Given the description of an element on the screen output the (x, y) to click on. 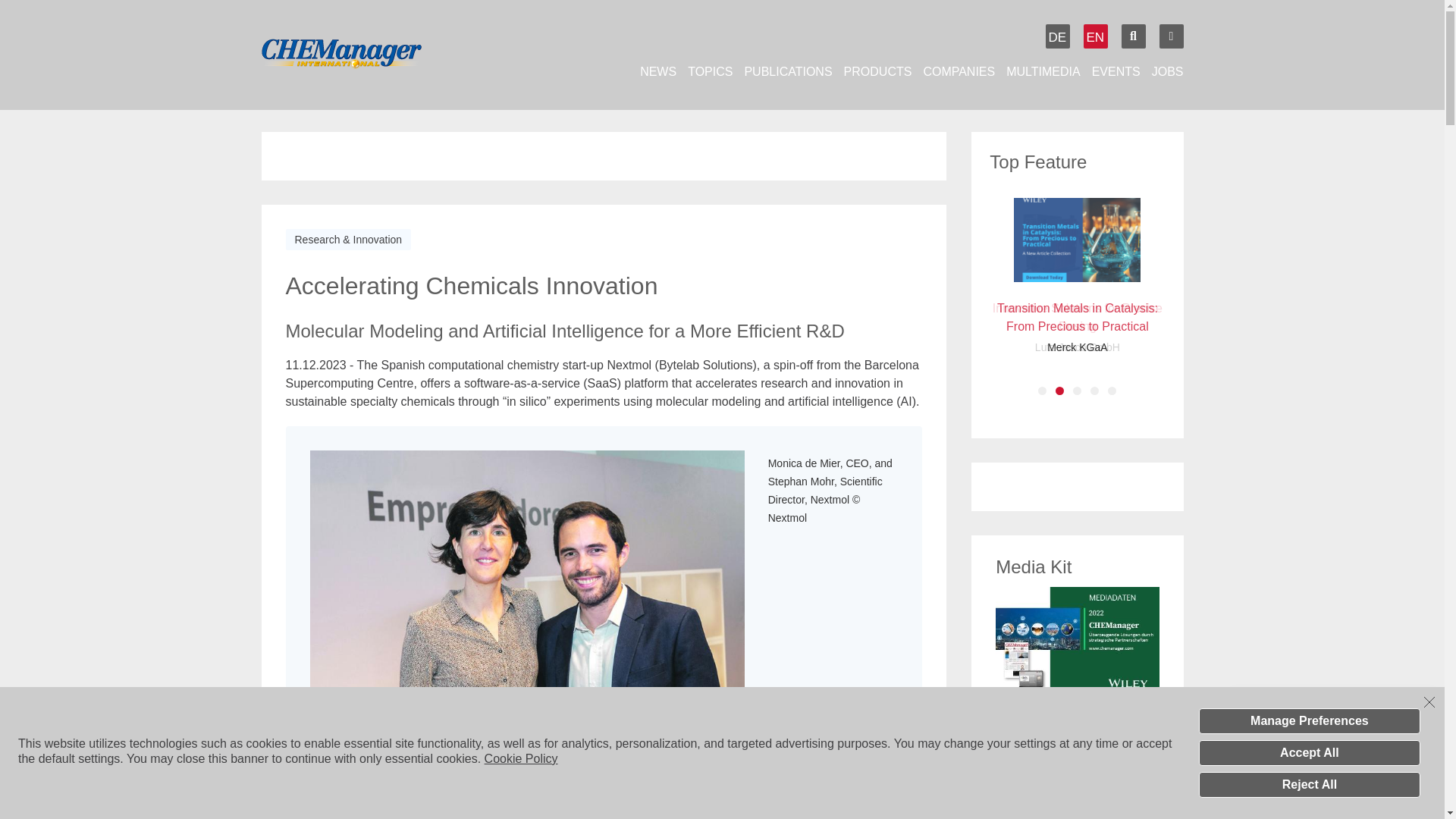
NEWS (658, 71)
Home (366, 55)
PRODUCTS (878, 71)
TOPICS (709, 71)
Manage Preferences (1309, 720)
PUBLICATIONS (787, 71)
COMPANIES (958, 71)
MULTIMEDIA (1043, 71)
Reject All (1309, 784)
Cookie Policy (520, 758)
Accept All (1309, 752)
